Given the description of an element on the screen output the (x, y) to click on. 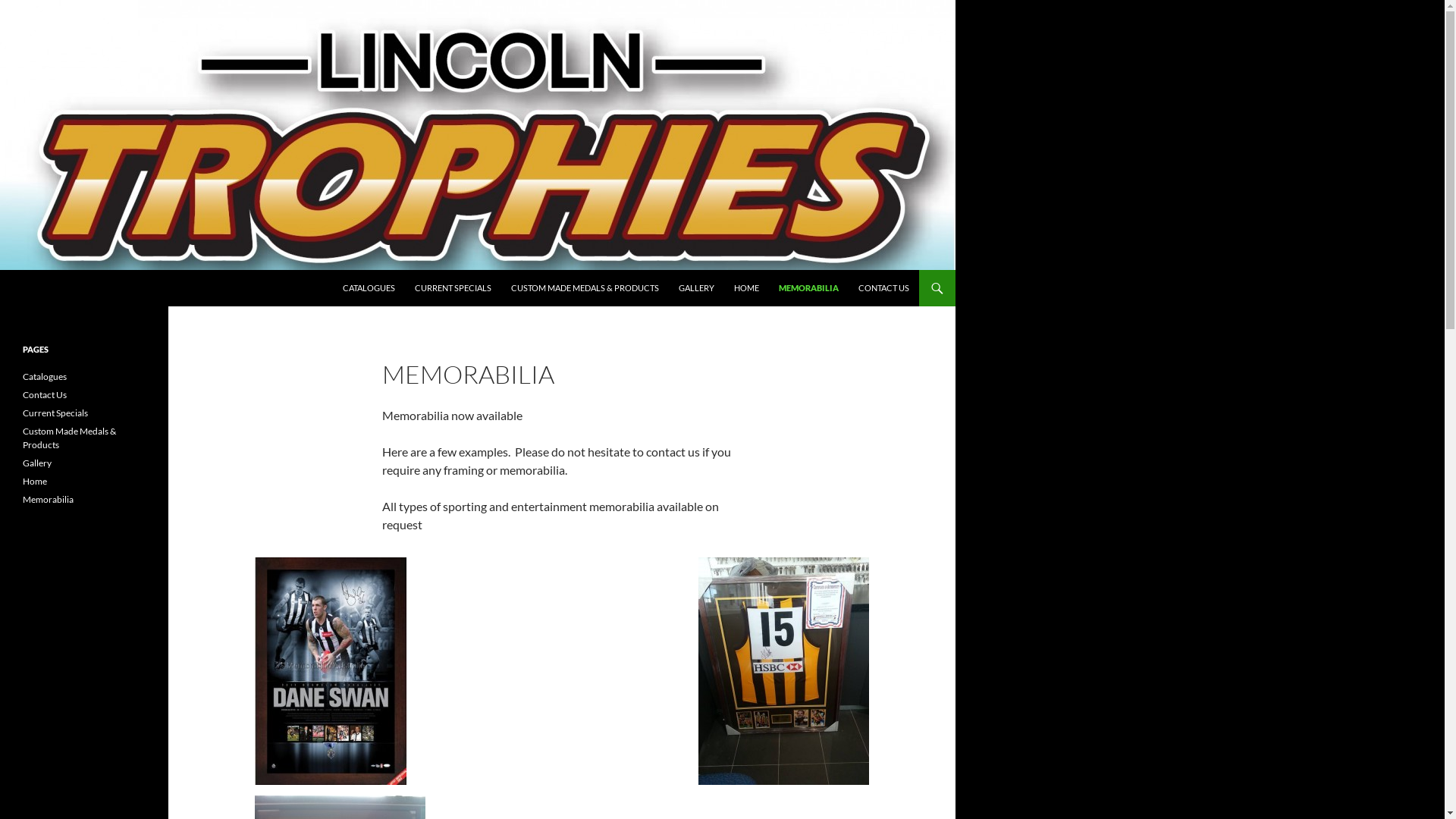
Catalogues Element type: text (44, 376)
Lincoln Trophies & Engraving Element type: text (109, 287)
Gallery Element type: text (36, 462)
Home Element type: text (34, 480)
Current Specials Element type: text (54, 412)
CURRENT SPECIALS Element type: text (452, 287)
HOME Element type: text (746, 287)
Contact Us Element type: text (44, 394)
MEMORABILIA Element type: text (808, 287)
Custom Made Medals & Products Element type: text (69, 437)
SKIP TO CONTENT Element type: text (342, 269)
CONTACT US Element type: text (883, 287)
GALLERY Element type: text (696, 287)
Search Element type: text (3, 269)
CUSTOM MADE MEDALS & PRODUCTS Element type: text (585, 287)
Memorabilia Element type: text (47, 499)
CATALOGUES Element type: text (368, 287)
